Given the description of an element on the screen output the (x, y) to click on. 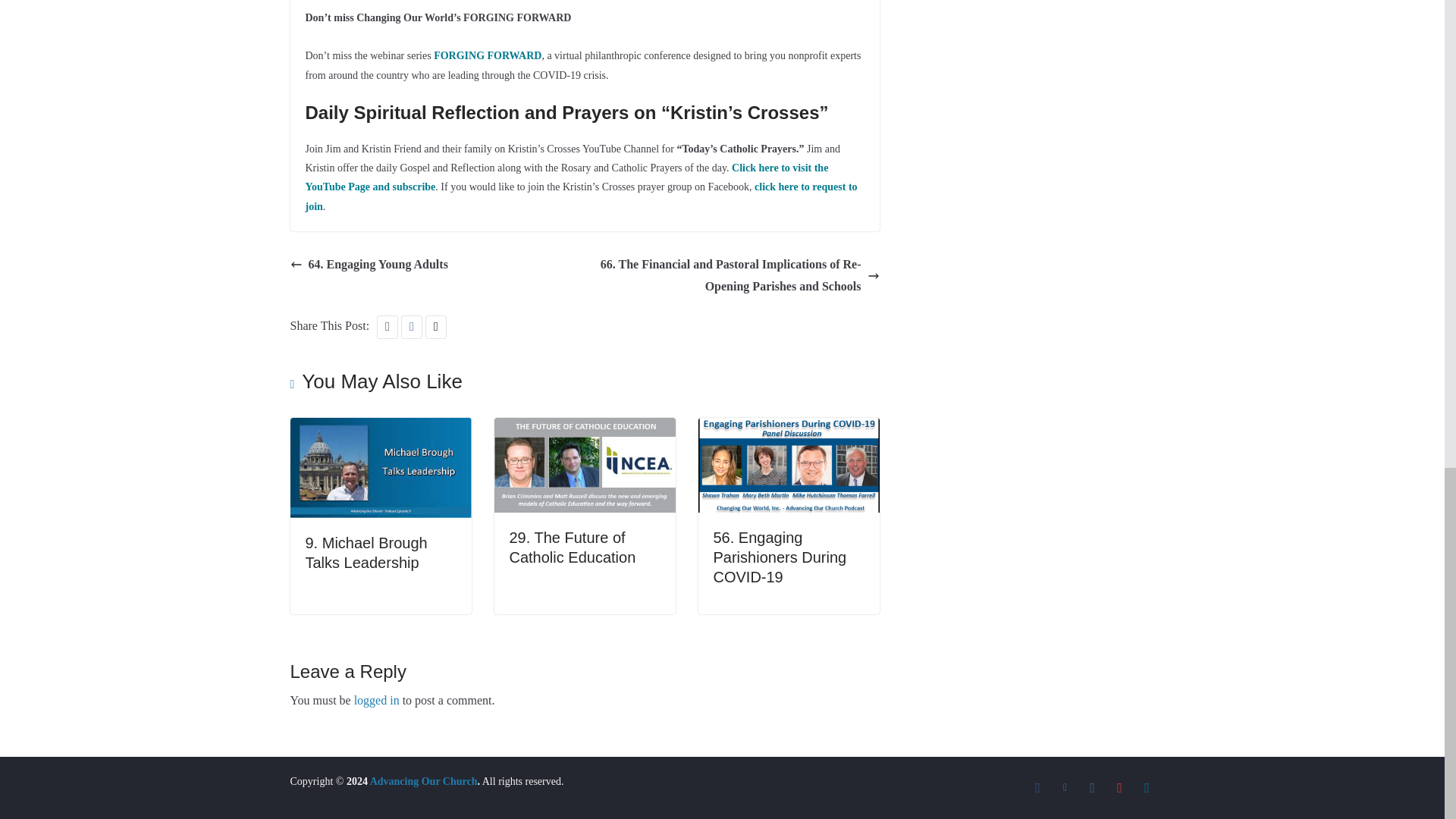
Click here to visit the YouTube Page and subscribe (566, 177)
click here to request to join (580, 195)
29. The Future of Catholic Education (572, 547)
9. Michael Brough Talks Leadership (365, 552)
9. Michael Brough Talks Leadership (365, 552)
FORGING FORWARD (487, 55)
56. Engaging Parishioners During COVID-19 (779, 557)
56. Engaging Parishioners During COVID-19 (788, 427)
9. Michael Brough Talks Leadership (379, 427)
64. Engaging Young Adults (367, 264)
29. The Future of Catholic Education (585, 427)
